Given the description of an element on the screen output the (x, y) to click on. 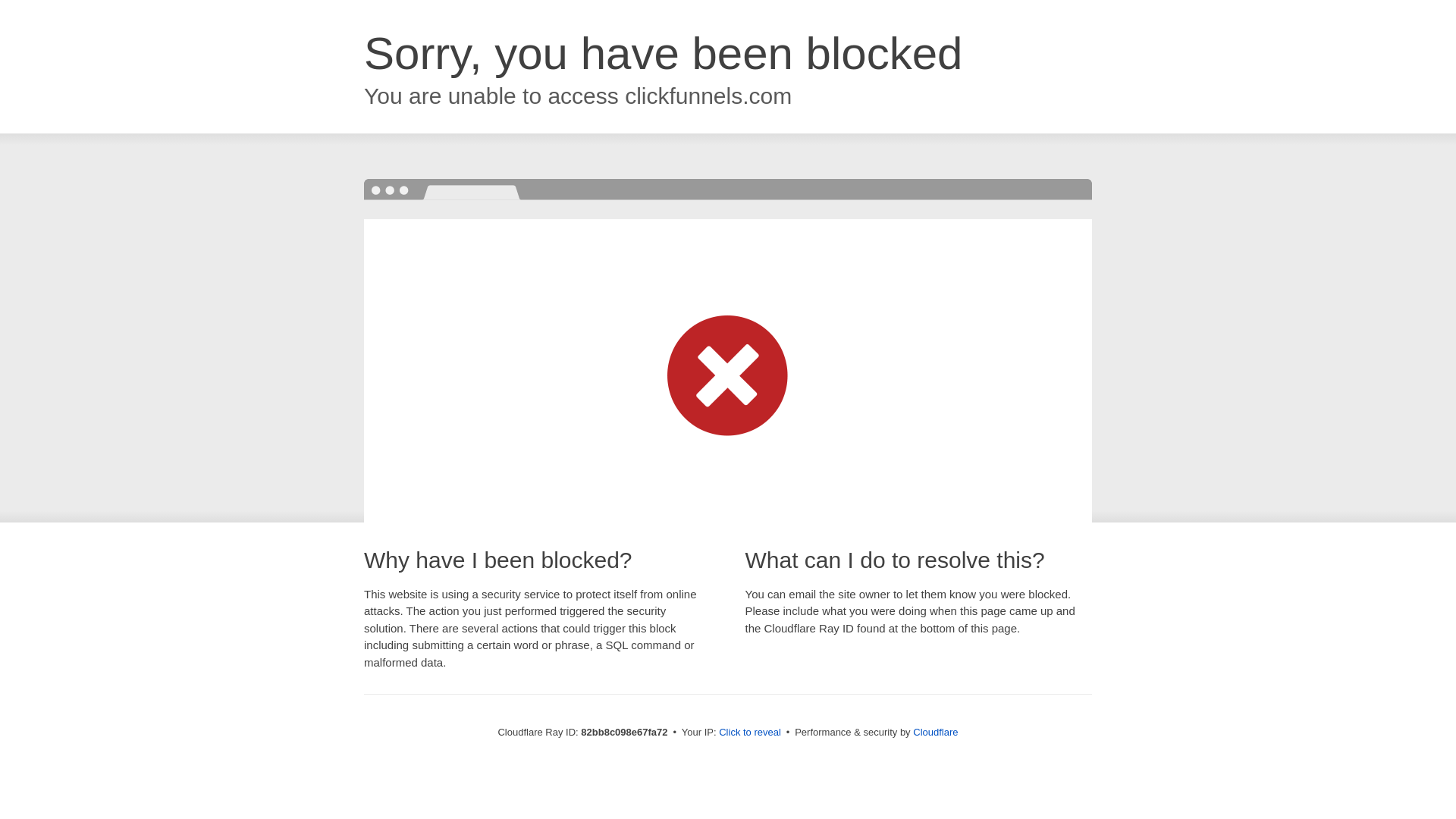
Click to reveal Element type: text (749, 732)
Cloudflare Element type: text (935, 731)
